Given the description of an element on the screen output the (x, y) to click on. 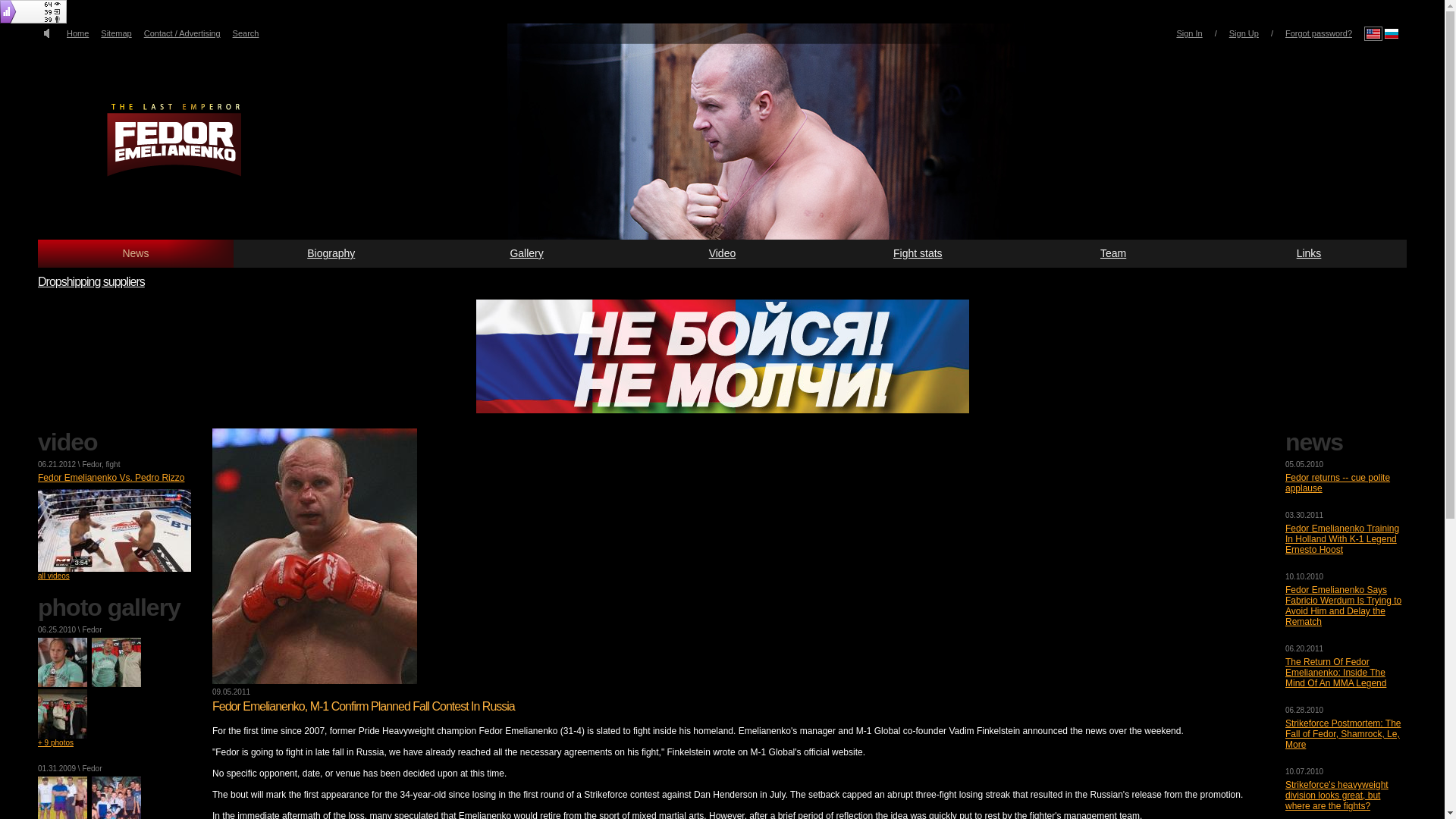
all videos (53, 575)
Fedor Emelianenko Vs. Pedro Rizzo (110, 477)
fight (113, 464)
Sitemap (115, 32)
Team (1112, 253)
Video (722, 253)
Home (77, 32)
Fedor (91, 629)
News (134, 253)
Sign In (1189, 32)
Fedor (91, 464)
Forgot password? (1318, 32)
Fight stats (916, 253)
Sign Up (1243, 32)
Gallery (526, 253)
